Given the description of an element on the screen output the (x, y) to click on. 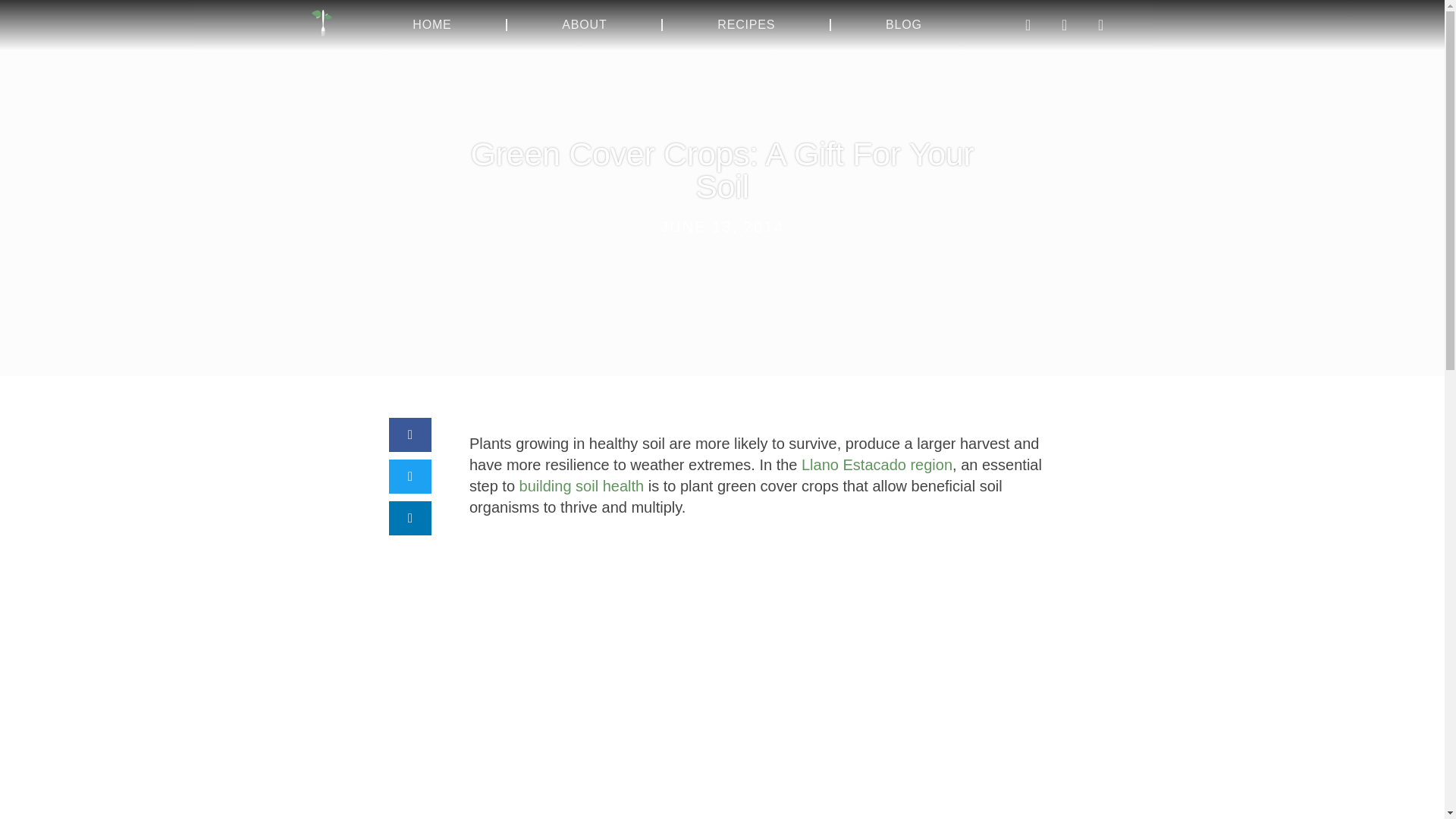
What is the Llano Estacado? (877, 464)
Build the Best Soil for Your Garden by Composting (582, 485)
JUNE 13, 2014 (722, 226)
building soil health (582, 485)
Llano Estacado region (877, 464)
HOME (431, 24)
BLOG (903, 24)
RECIPES (745, 24)
ABOUT (584, 24)
